Given the description of an element on the screen output the (x, y) to click on. 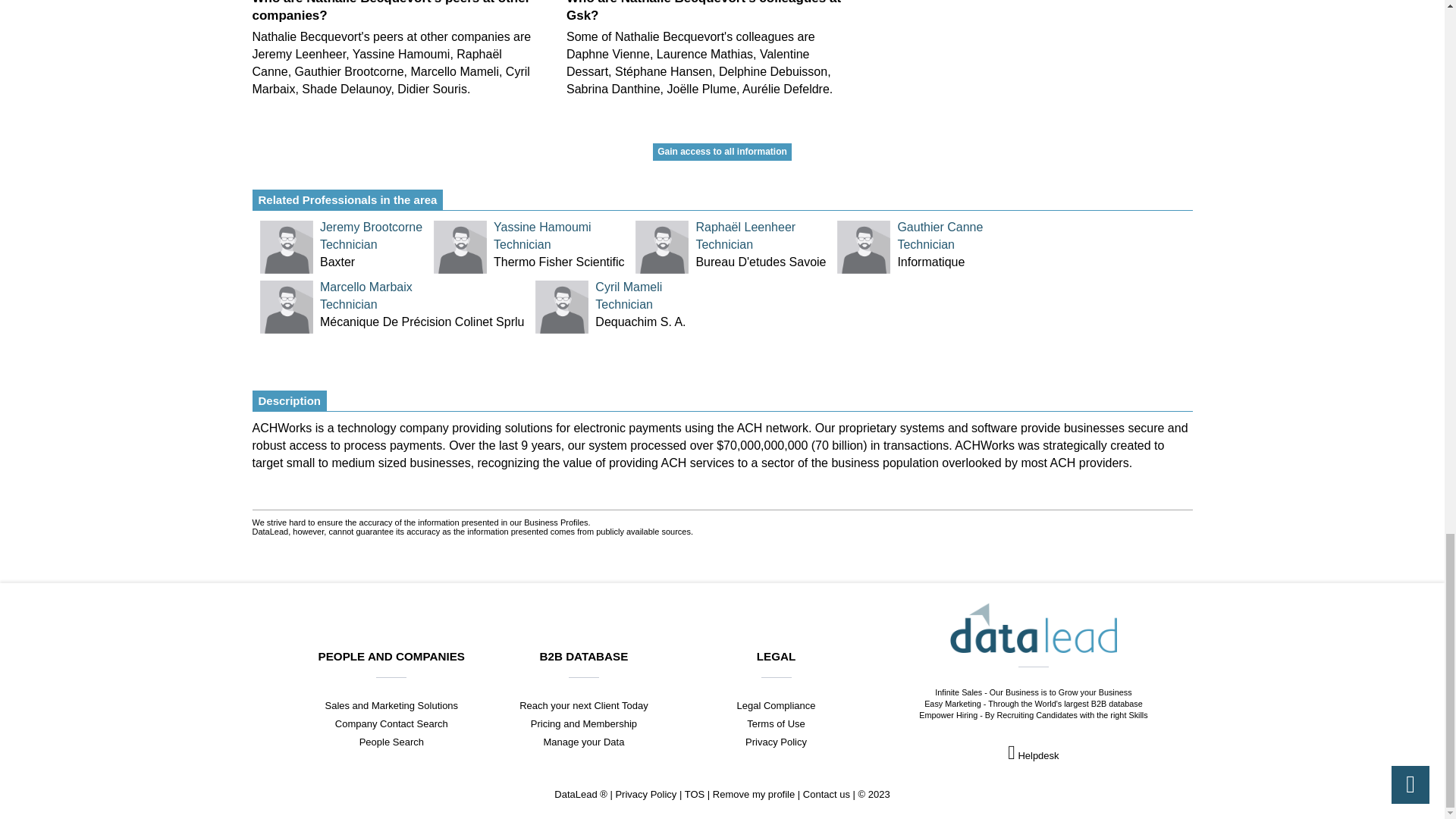
People Search (391, 741)
Company Contact Search (391, 723)
Technician at Bureau D'etudes Savoie (558, 234)
Technician at Thermo Fisher Scientific (760, 262)
Technician at Informatique (558, 262)
Manage your Data (939, 262)
Sales and Marketing Solutions (583, 741)
Legal Compliance (391, 705)
